Given the description of an element on the screen output the (x, y) to click on. 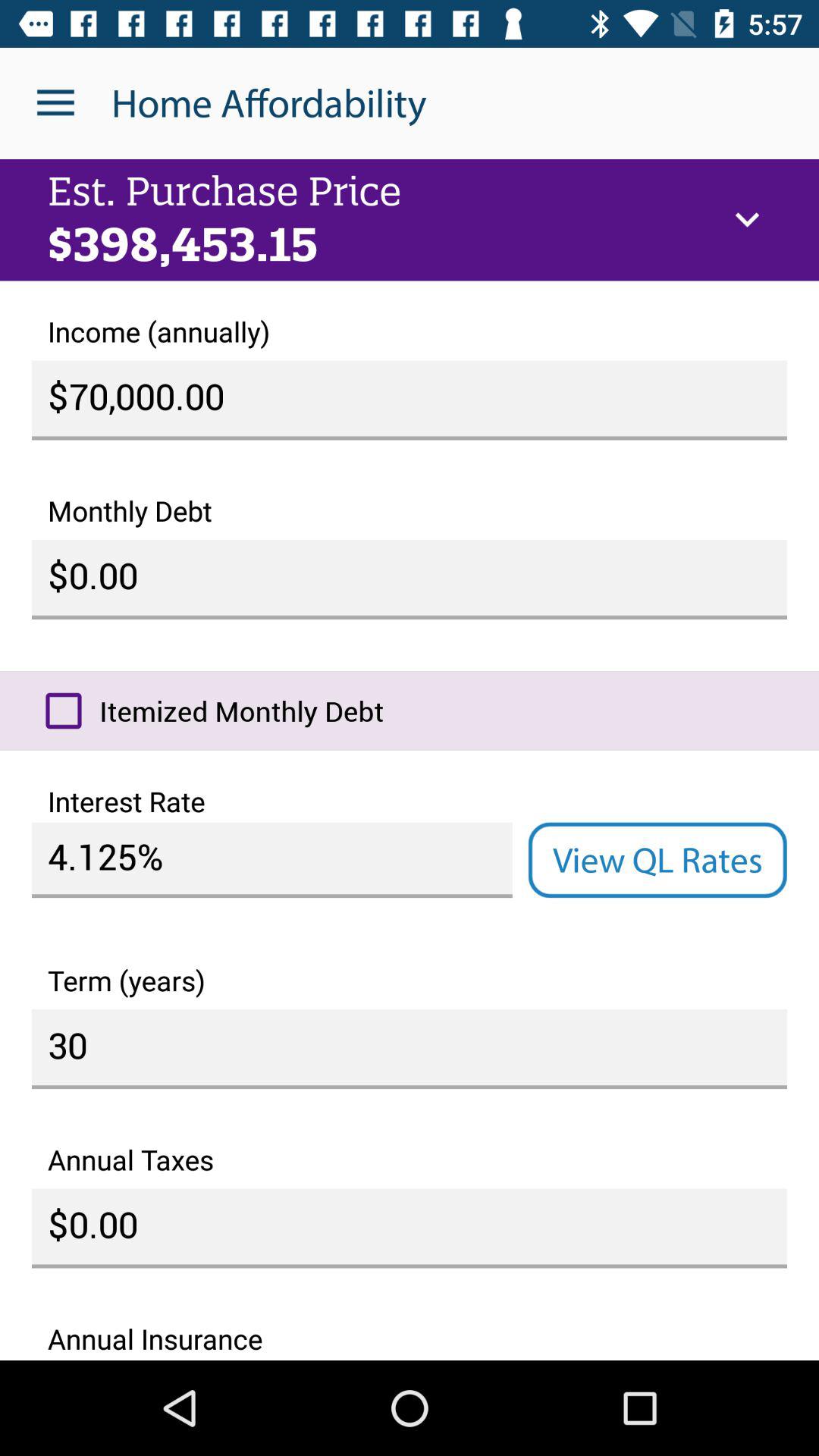
click item to the right of the 4.125% item (657, 860)
